Given the description of an element on the screen output the (x, y) to click on. 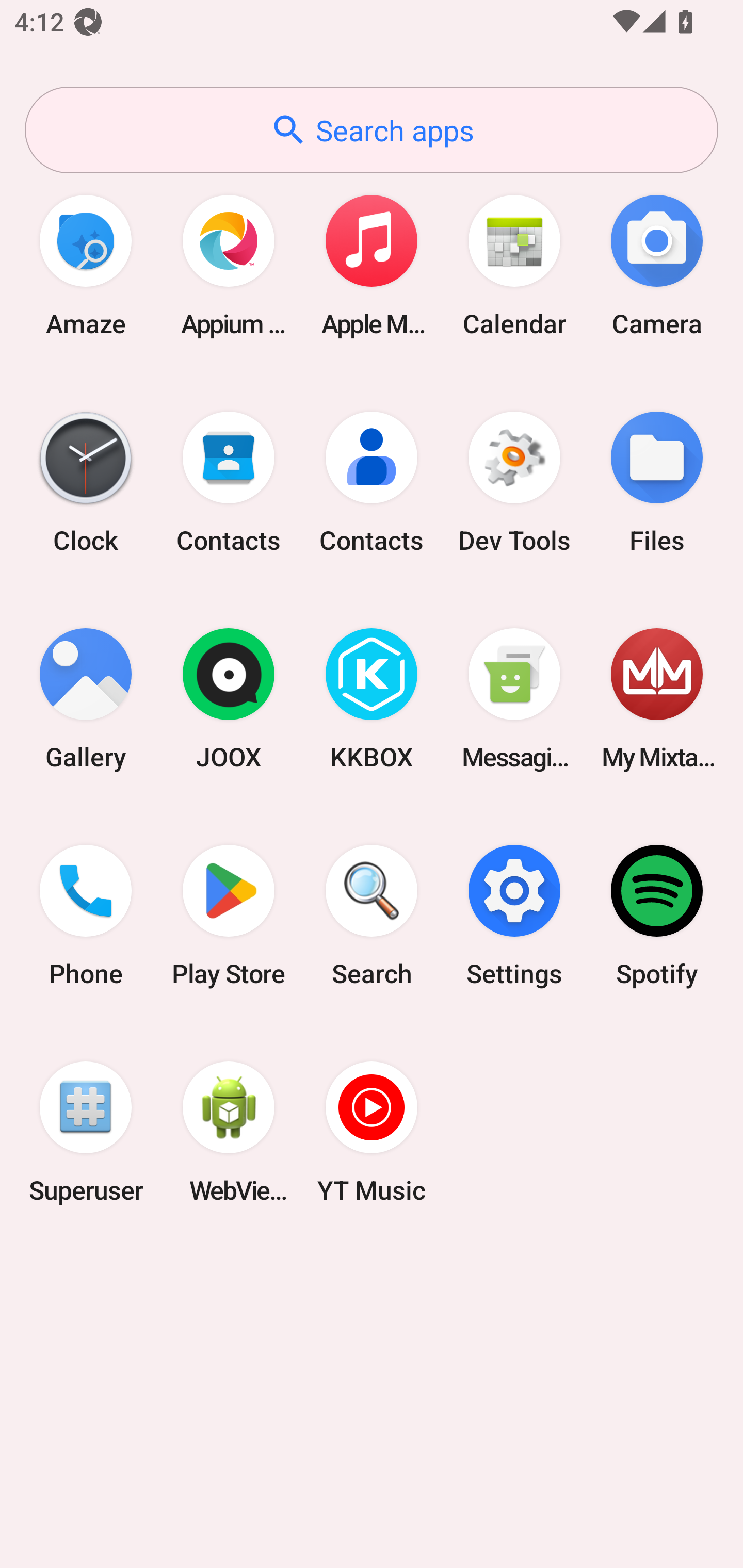
  Search apps (371, 130)
Amaze (85, 264)
Appium Settings (228, 264)
Apple Music (371, 264)
Calendar (514, 264)
Camera (656, 264)
Clock (85, 482)
Contacts (228, 482)
Contacts (371, 482)
Dev Tools (514, 482)
Files (656, 482)
Gallery (85, 699)
JOOX (228, 699)
KKBOX (371, 699)
Messaging (514, 699)
My Mixtapez (656, 699)
Phone (85, 915)
Play Store (228, 915)
Search (371, 915)
Settings (514, 915)
Spotify (656, 915)
Superuser (85, 1131)
WebView Browser Tester (228, 1131)
YT Music (371, 1131)
